Given the description of an element on the screen output the (x, y) to click on. 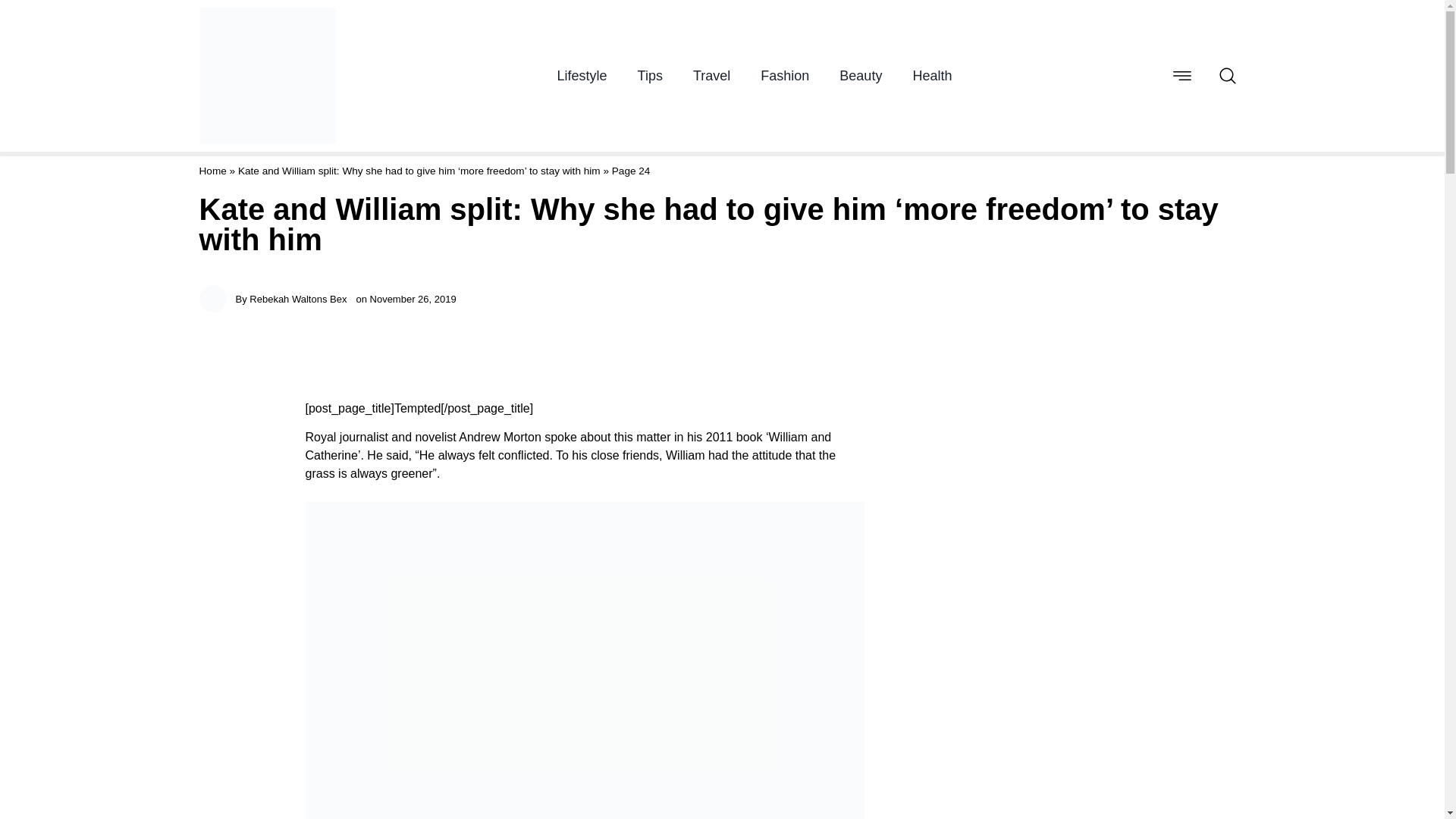
Fashion (784, 75)
Tips (649, 75)
Beauty (861, 75)
Lifestyle (582, 75)
Health (932, 75)
Travel (711, 75)
Home (211, 170)
